Given the description of an element on the screen output the (x, y) to click on. 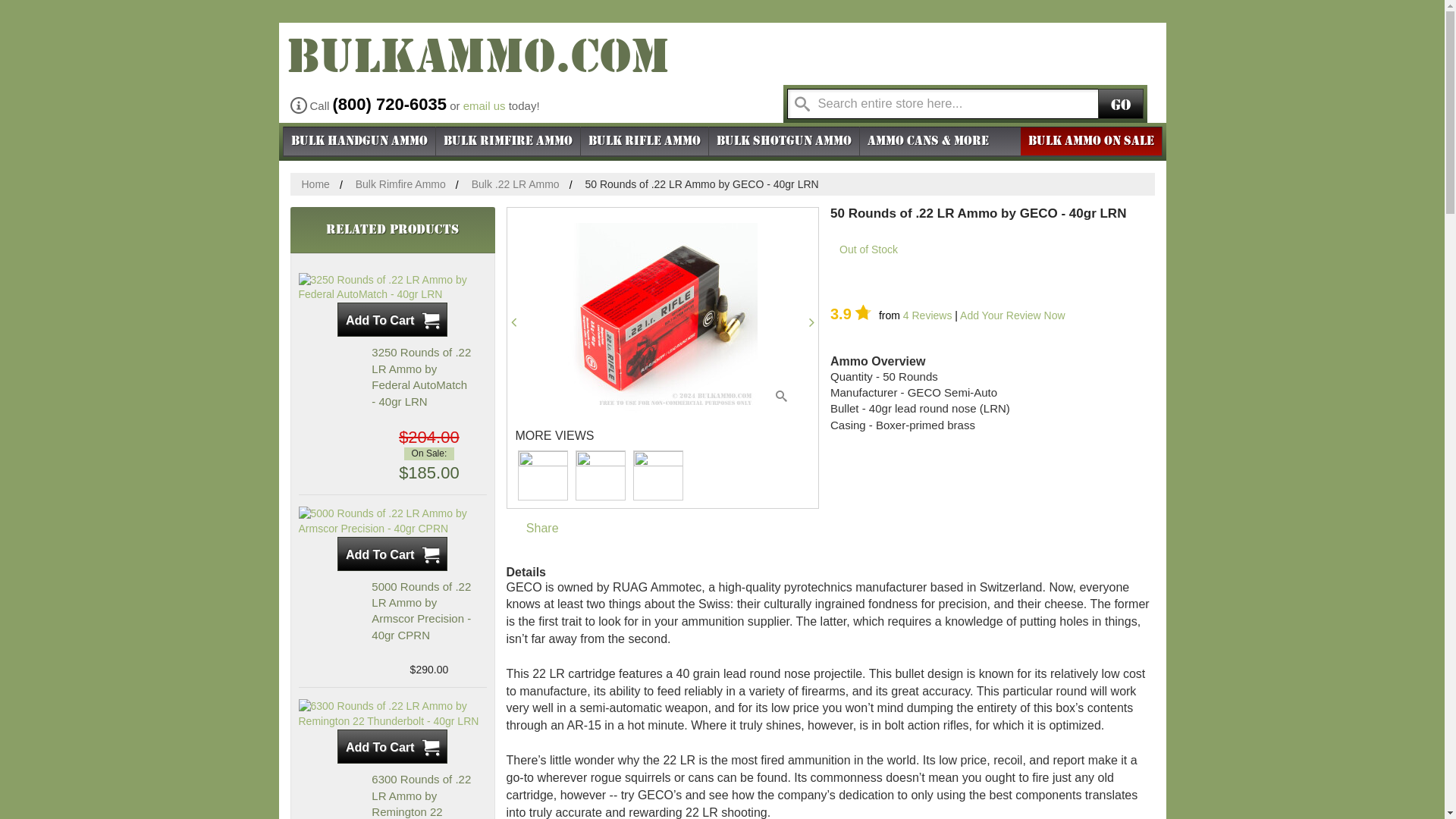
BULKAMMO.COM (474, 67)
50 Rounds of .22 LR Ammo by GECO - 40gr LRN (662, 317)
email us (484, 105)
Bulk Rimfire Ammo (507, 140)
Bulk Handgun Ammo (359, 140)
Bulk Rimfire Ammo (400, 183)
Go (1119, 102)
Go (1119, 102)
Bulk Ammo For Sale (474, 67)
Bulk Rifle Ammo (643, 140)
